Given the description of an element on the screen output the (x, y) to click on. 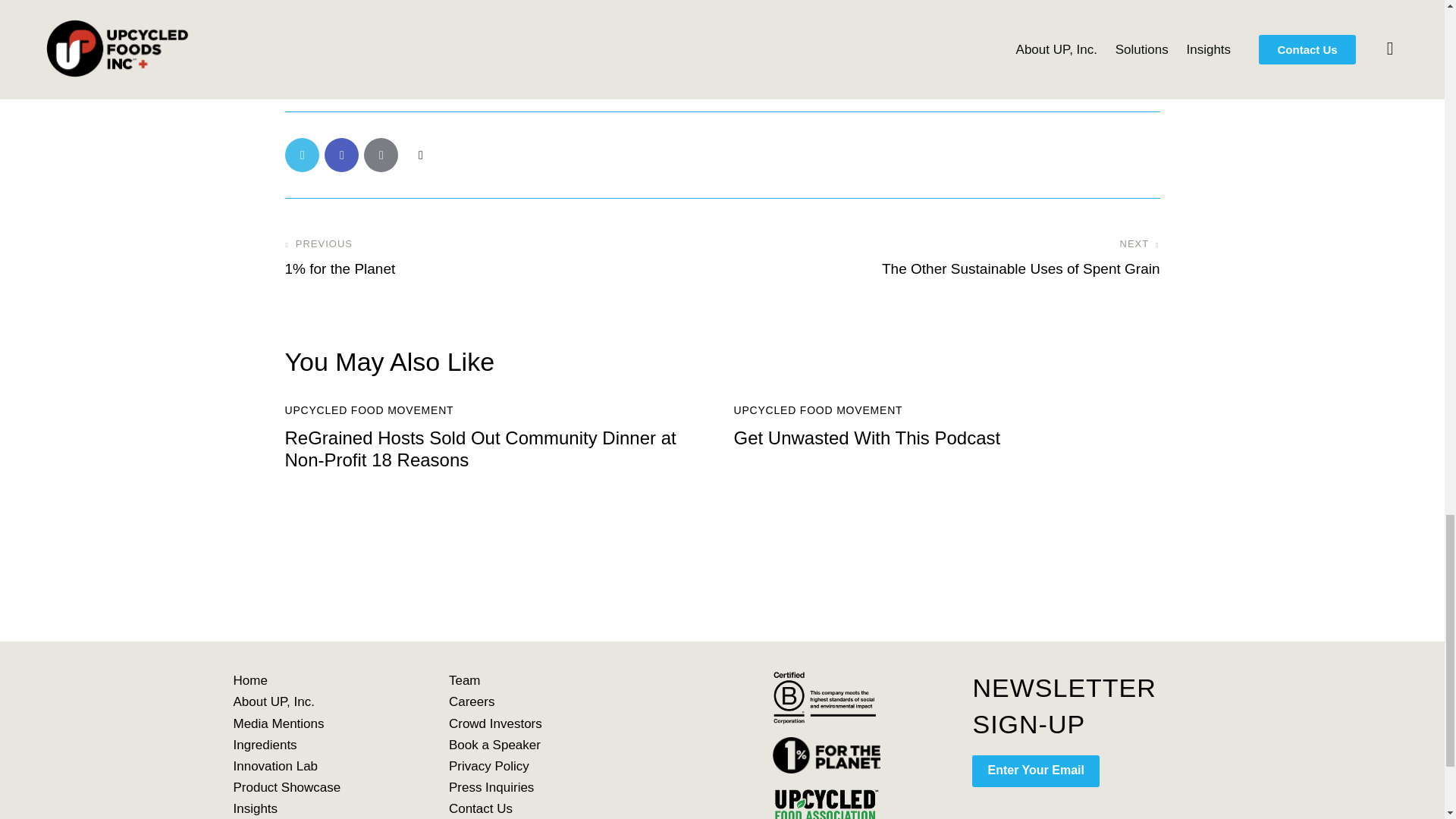
Sustainable Food (497, 53)
2018-Corp-wTag-Black-L (826, 696)
Copy URL to clipboard (420, 154)
Zero Waste (708, 53)
Food Waste (325, 53)
Interview (405, 53)
Sustainable Living (608, 53)
